Given the description of an element on the screen output the (x, y) to click on. 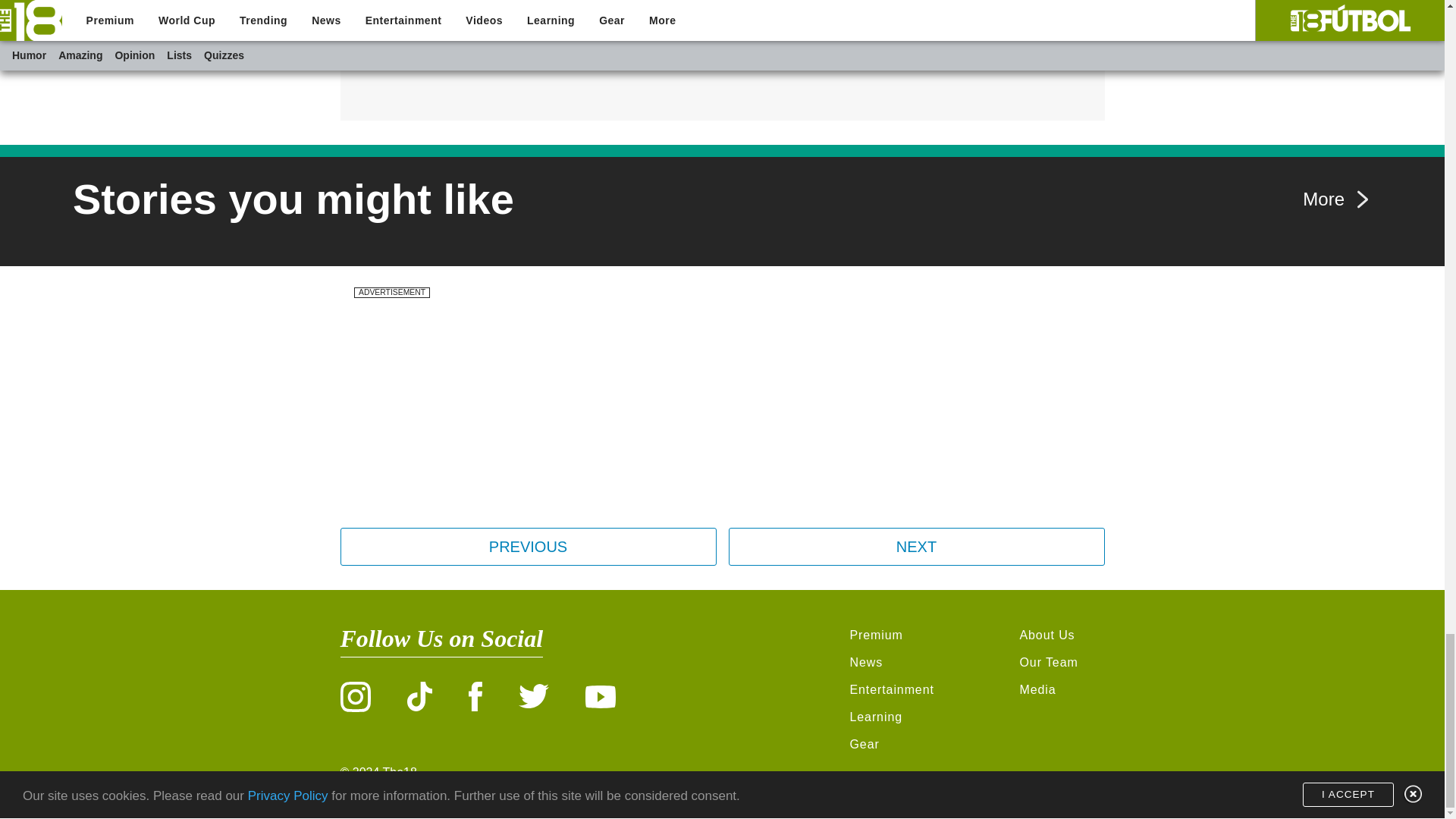
3rd party ad content (721, 48)
Previous (527, 546)
Next (915, 546)
